Given the description of an element on the screen output the (x, y) to click on. 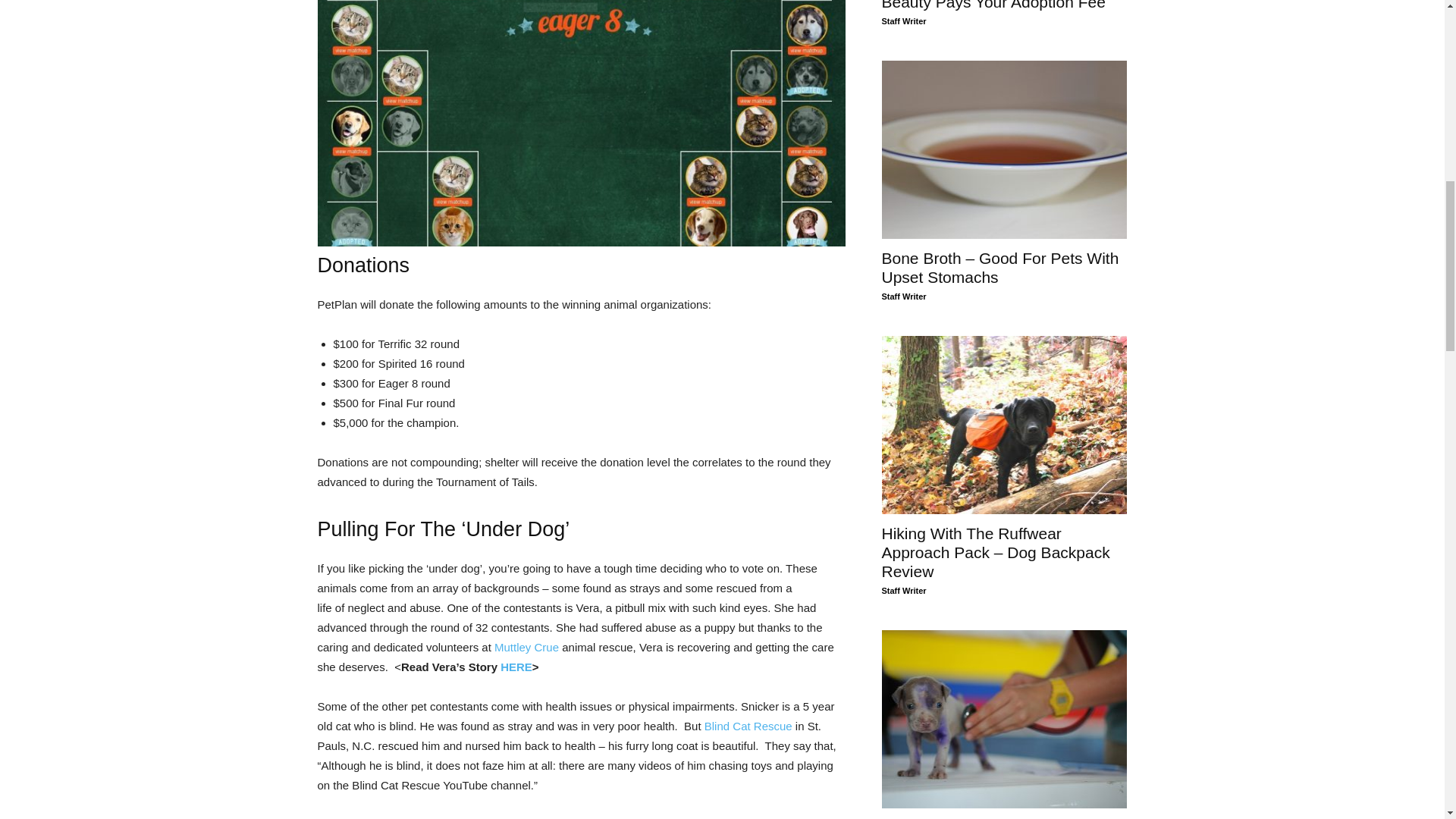
Muttley Crue (527, 646)
Blind Cat Rescue (748, 725)
Vera's Story  (516, 666)
Muttley Crue (527, 646)
